Given the description of an element on the screen output the (x, y) to click on. 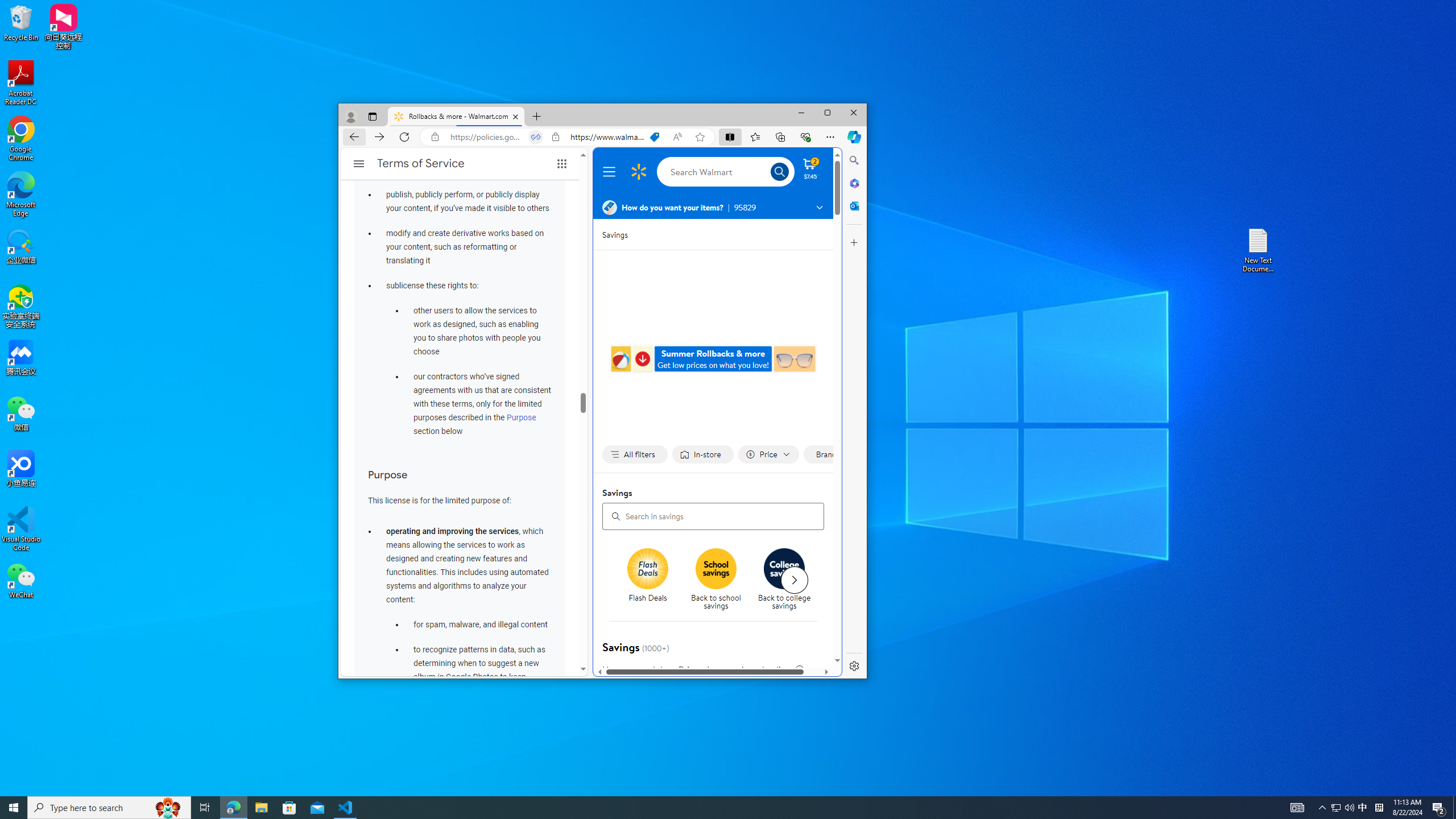
Notification Chevron (1322, 807)
Close Search pane (854, 159)
Recycle Bin (21, 22)
Back to College savings (784, 568)
New Text Document (2) (1258, 250)
Back to School savings (715, 568)
Q2790: 100% (1349, 807)
